Given the description of an element on the screen output the (x, y) to click on. 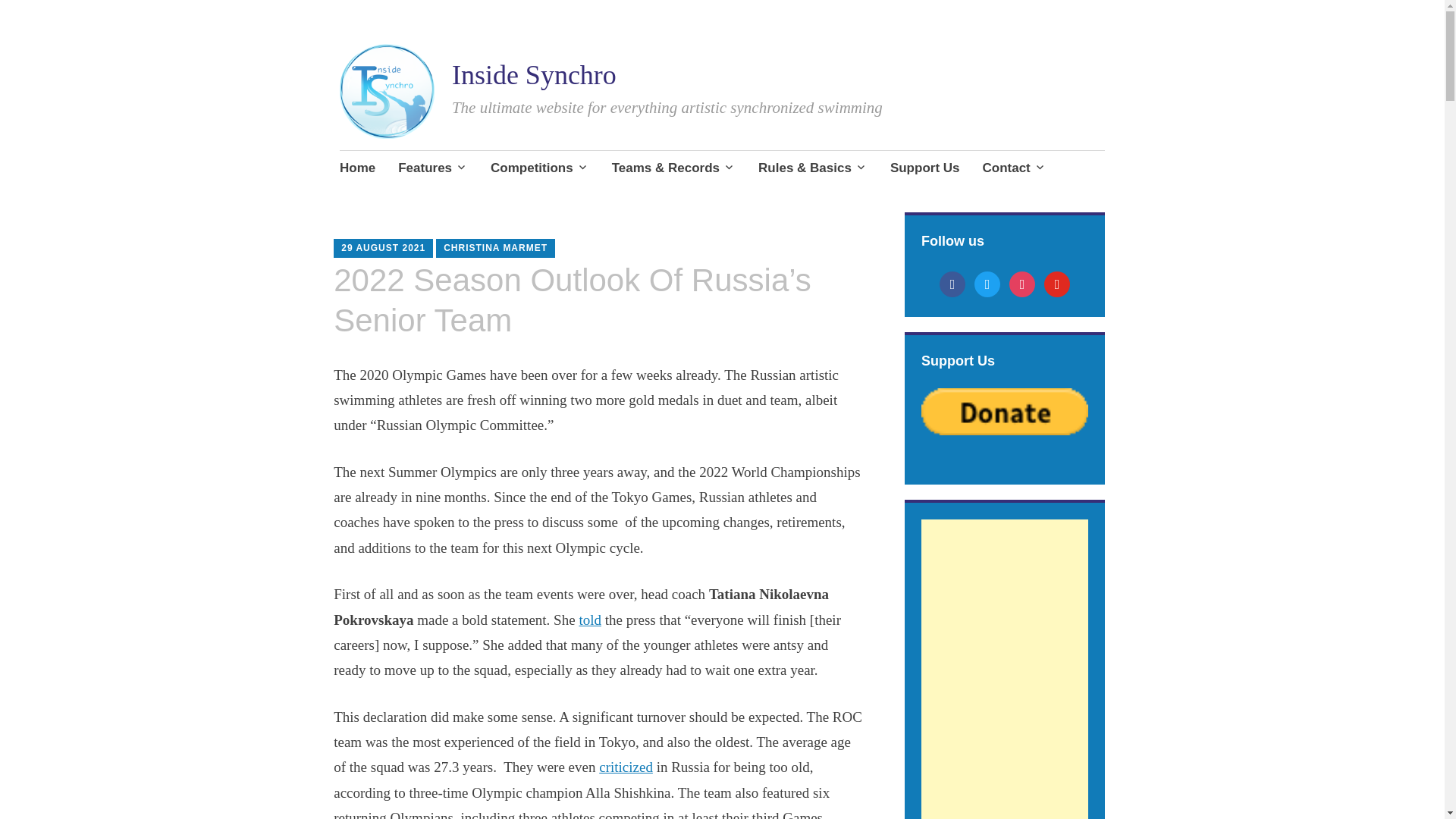
Default Label (1056, 282)
Home (357, 169)
Features (432, 169)
Twitter (987, 282)
Facebook (952, 282)
Instagram (1022, 282)
Inside Synchro (533, 74)
Competitions (539, 169)
